Given the description of an element on the screen output the (x, y) to click on. 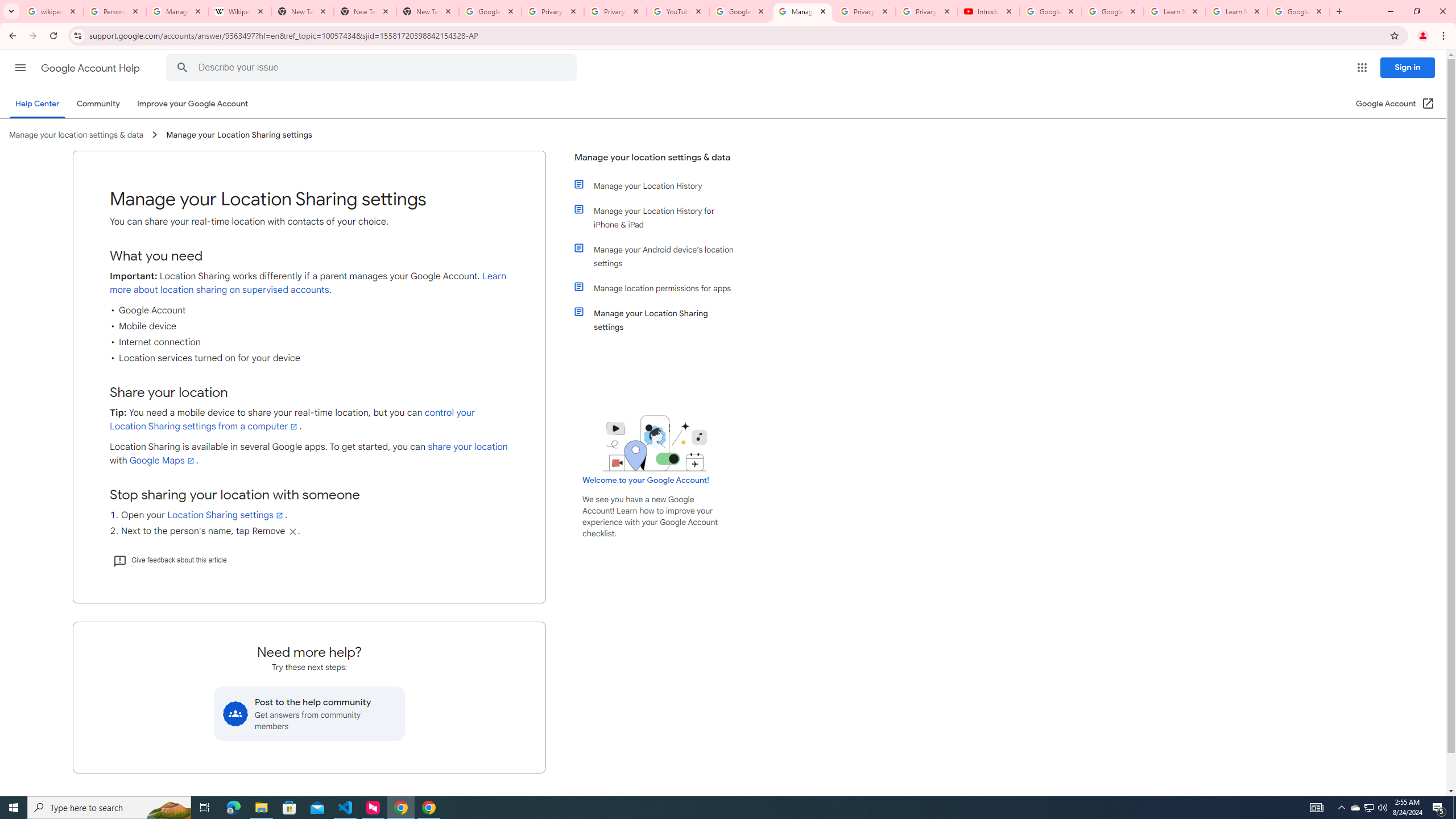
Search Help Center (181, 67)
New Tab (365, 11)
Google Drive: Sign-in (490, 11)
Google Account Help (91, 68)
Improve your Google Account (192, 103)
YouTube (678, 11)
